Given the description of an element on the screen output the (x, y) to click on. 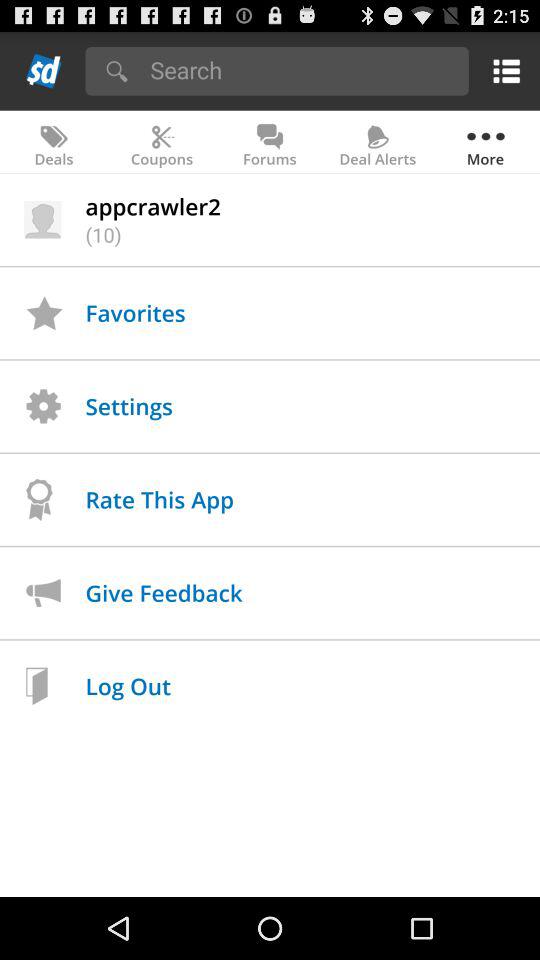
click on dollors (44, 70)
